Given the description of an element on the screen output the (x, y) to click on. 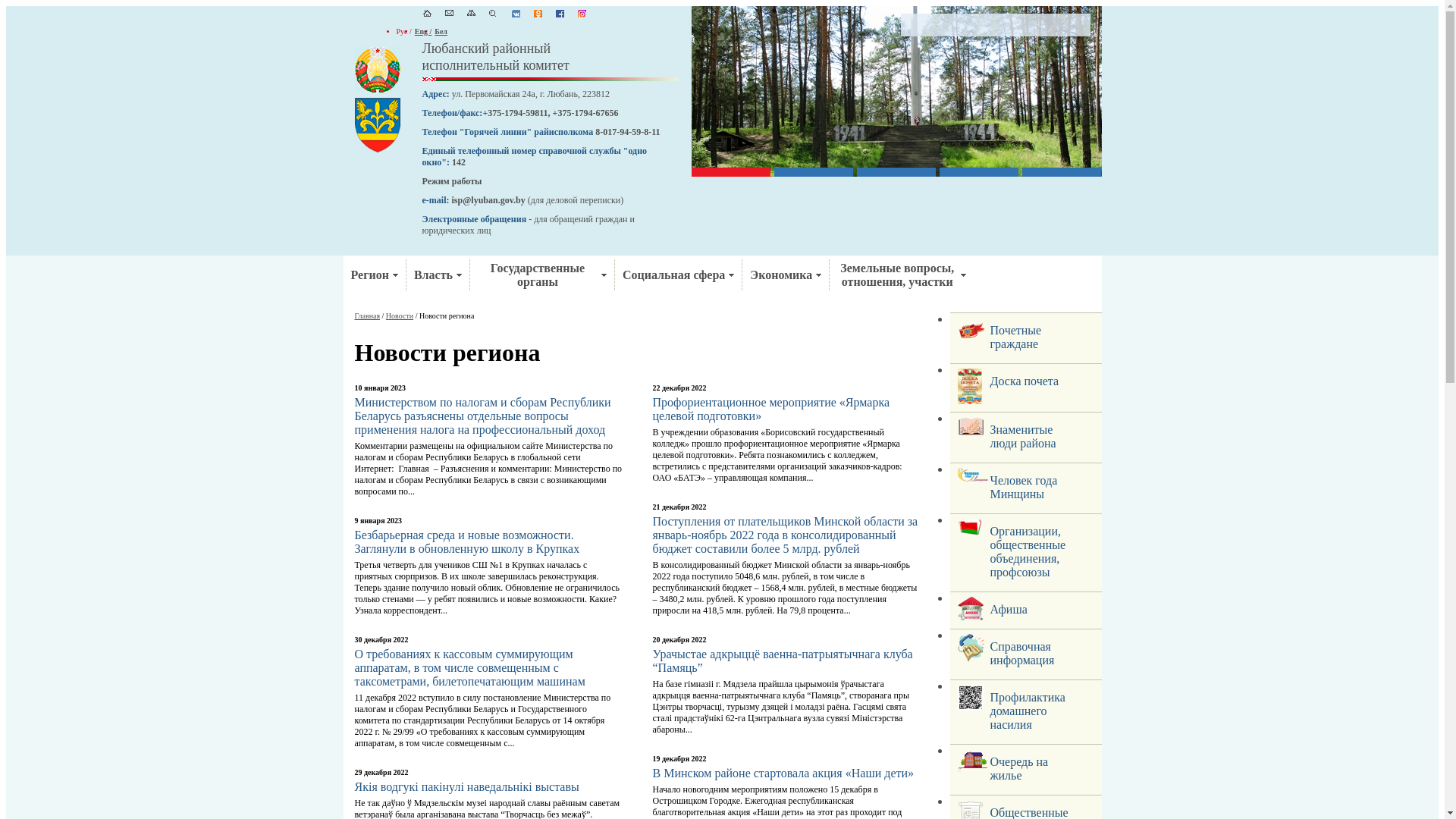
vk Element type: hover (515, 13)
instagram Element type: hover (581, 13)
+375-1794-59811 Element type: text (514, 112)
Eng / Element type: text (423, 31)
ok Element type: hover (537, 13)
142 Element type: text (458, 161)
isp@lyuban.gov.by Element type: text (487, 199)
+375-1794-67656 Element type: text (585, 112)
8-017-94-59-8-11 Element type: text (627, 131)
facebook Element type: hover (559, 13)
